Given the description of an element on the screen output the (x, y) to click on. 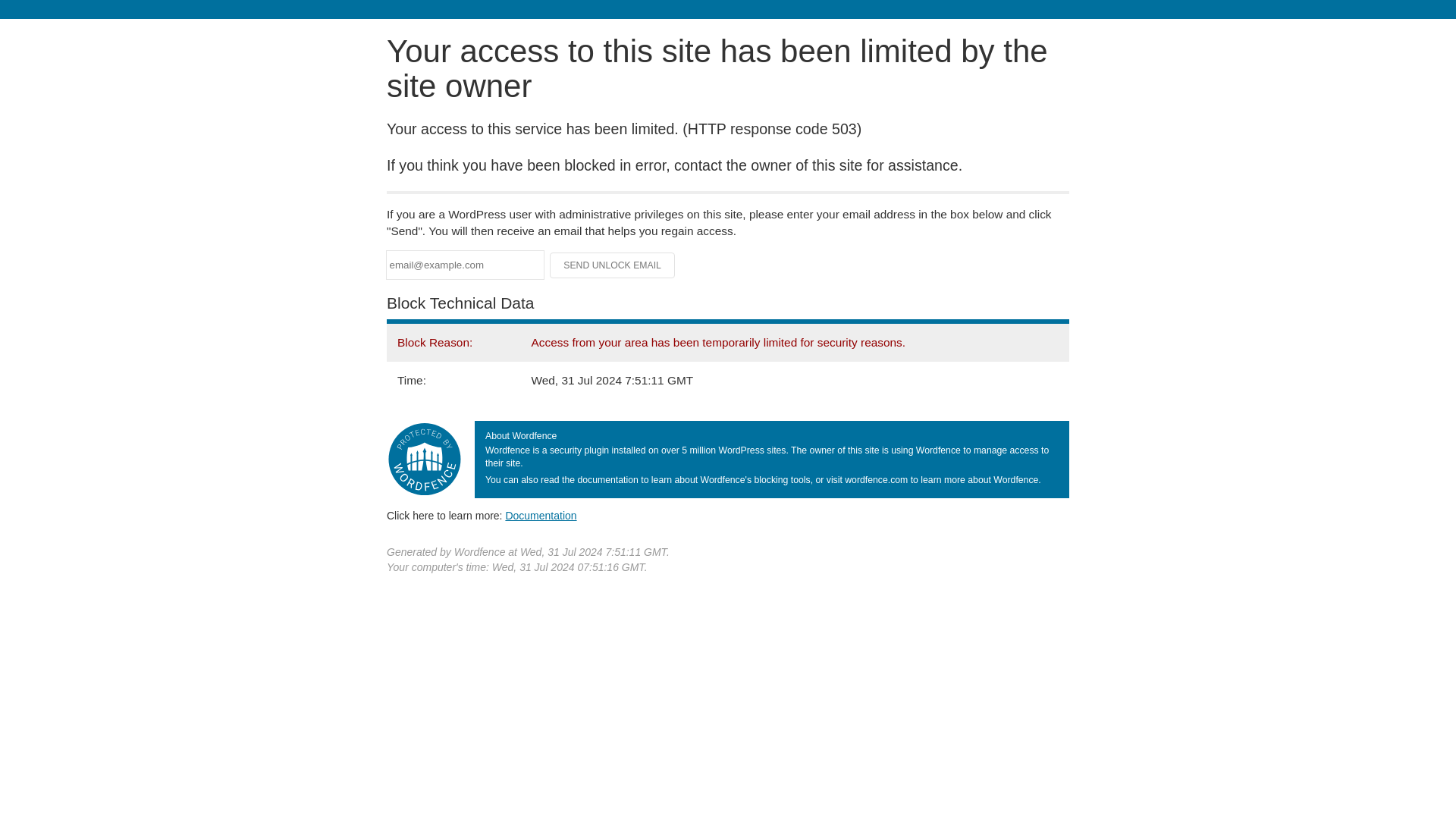
Documentation (540, 515)
Send Unlock Email (612, 265)
Send Unlock Email (612, 265)
